Given the description of an element on the screen output the (x, y) to click on. 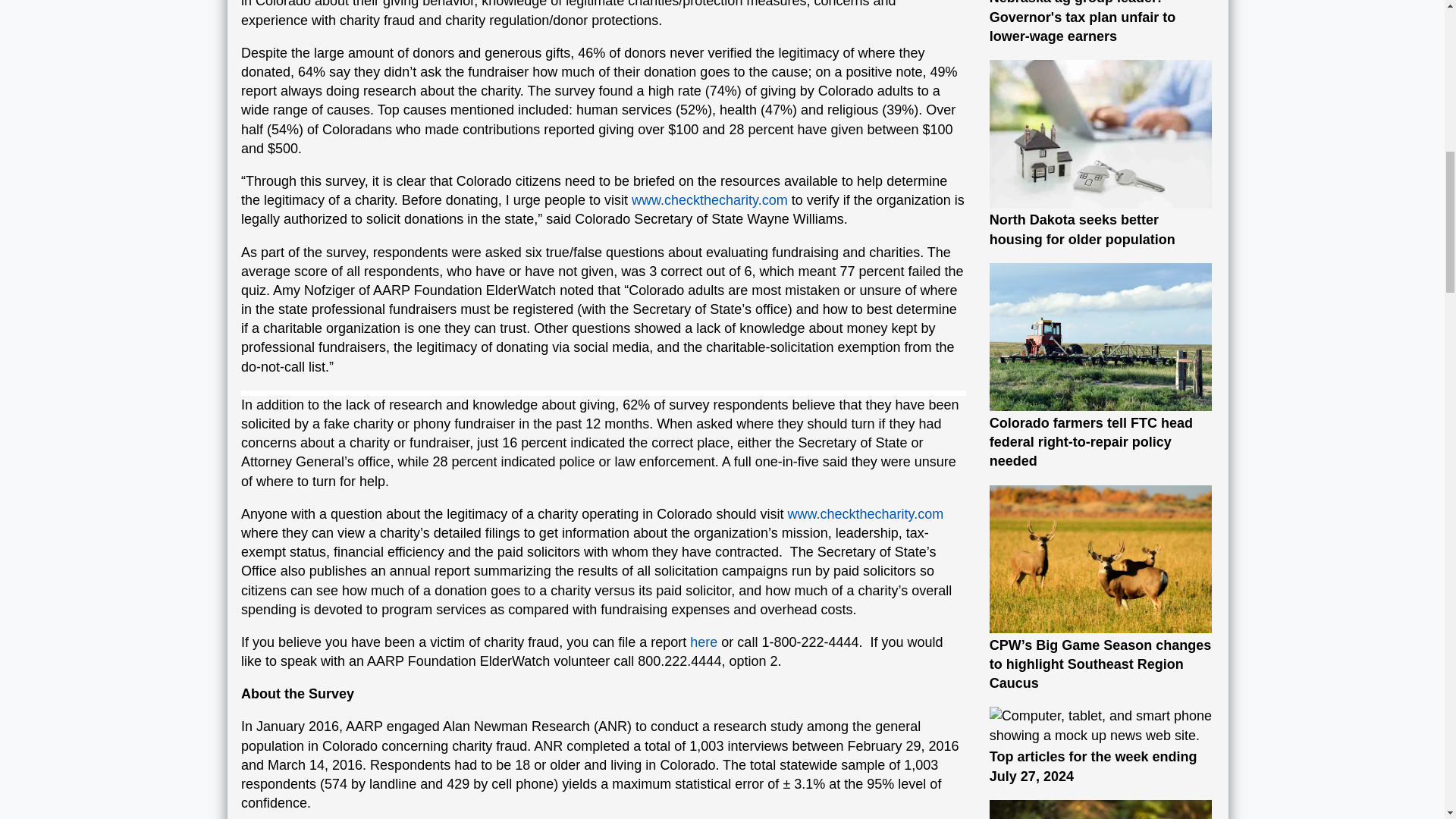
here (703, 642)
www.checkthecharity.com (1101, 154)
www.checkthecharity.com (1101, 745)
